Given the description of an element on the screen output the (x, y) to click on. 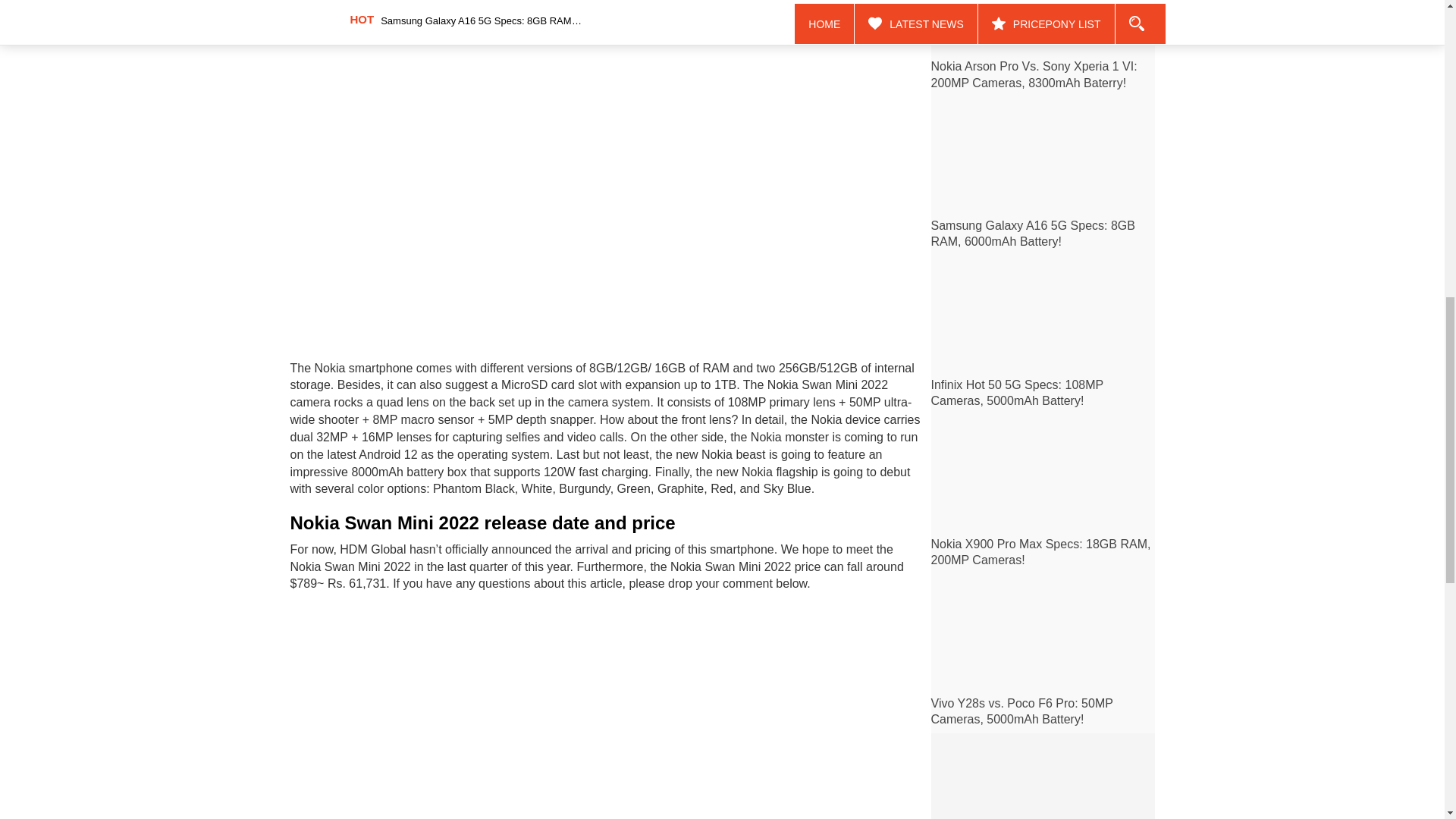
Nokia X900 Pro Max Specs: 18GB RAM, 200MP Cameras! (1041, 551)
Infinix Hot 50 5G Specs: 108MP Cameras, 5000mAh Battery! (1017, 392)
Samsung Galaxy A16 5G Specs: 8GB RAM, 6000mAh Battery! (1033, 233)
Vivo Y28s vs. Poco F6 Pro: 50MP Cameras, 5000mAh Battery! (1022, 710)
